Given the description of an element on the screen output the (x, y) to click on. 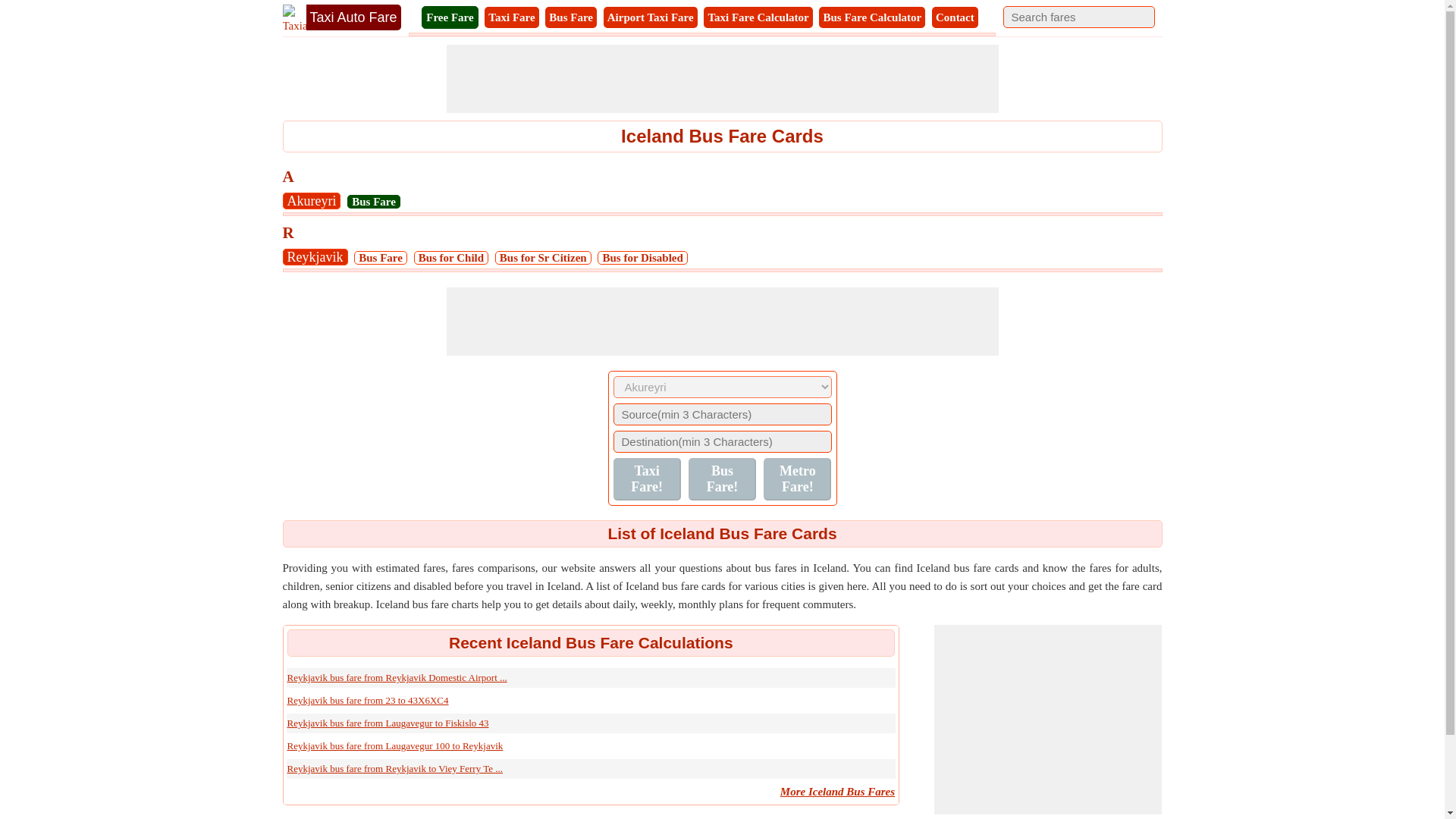
Taxi Fare! (645, 478)
More Iceland Bus Fares (837, 791)
Iceland Taxi Fare (511, 16)
Bus Fare! (721, 478)
Bus Fare (570, 16)
Bus for Child (450, 257)
Free Fare (449, 16)
Akureyri (311, 200)
Reykjavik bus fare from Reykjavik Domestic Airport ... (396, 677)
Bus Fare (373, 201)
Iceland Taxi Fare Calculator (757, 16)
Iceland Bus Fare (570, 16)
Contact (954, 16)
Akureyri (311, 200)
Reykjavik bus fare from 23 to 43X6XC4 (367, 699)
